Given the description of an element on the screen output the (x, y) to click on. 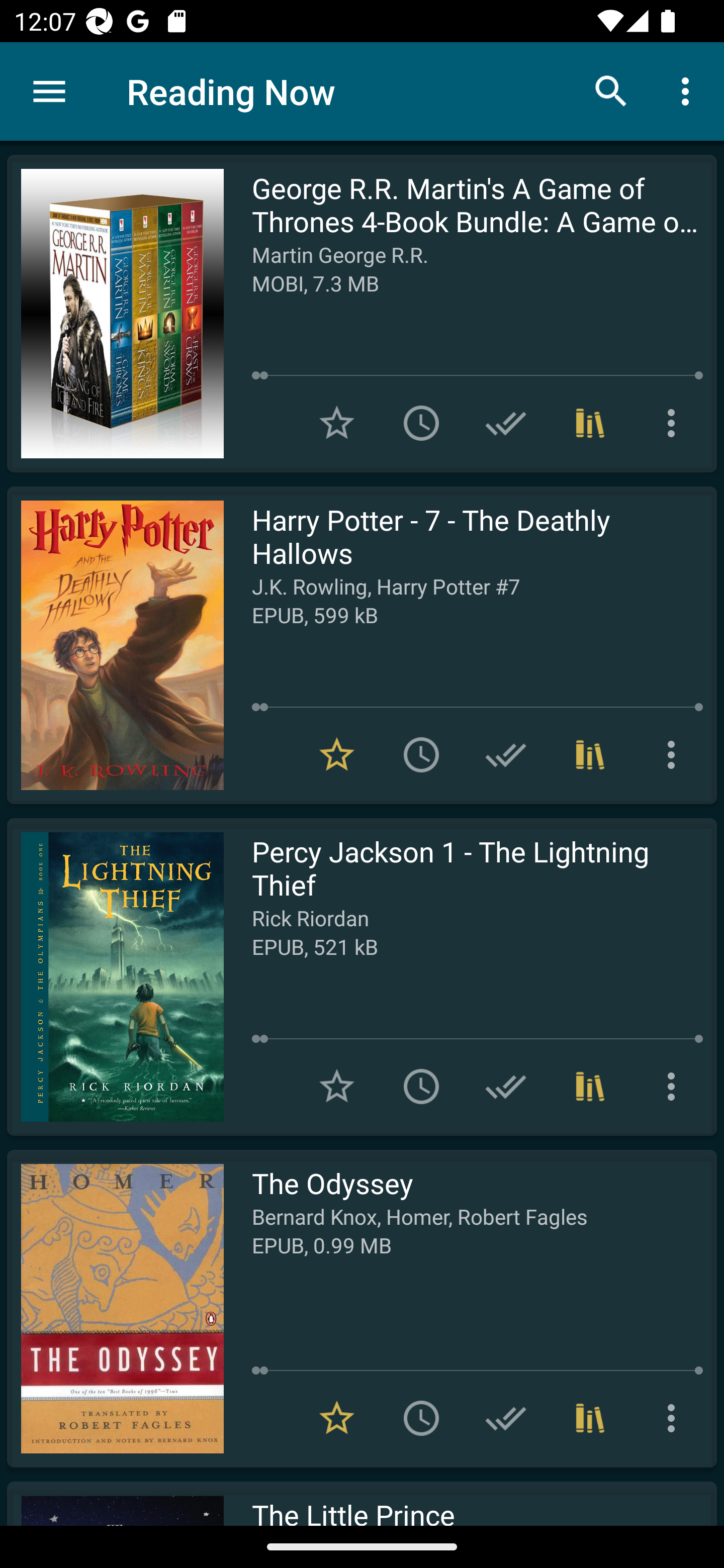
Menu (49, 91)
Search books & documents (611, 90)
More options (688, 90)
Add to Favorites (336, 423)
Add to To read (421, 423)
Add to Have read (505, 423)
Collections (1) (590, 423)
More options (674, 423)
Read Harry Potter - 7 - The Deathly Hallows (115, 645)
Remove from Favorites (336, 753)
Add to To read (421, 753)
Add to Have read (505, 753)
Collections (1) (590, 753)
More options (674, 753)
Read Percy Jackson 1 - The Lightning Thief (115, 976)
Add to Favorites (336, 1086)
Add to To read (421, 1086)
Add to Have read (505, 1086)
Collections (1) (590, 1086)
More options (674, 1086)
Read The Odyssey (115, 1308)
Remove from Favorites (336, 1417)
Add to To read (421, 1417)
Add to Have read (505, 1417)
Collections (2) (590, 1417)
More options (674, 1417)
